Given the description of an element on the screen output the (x, y) to click on. 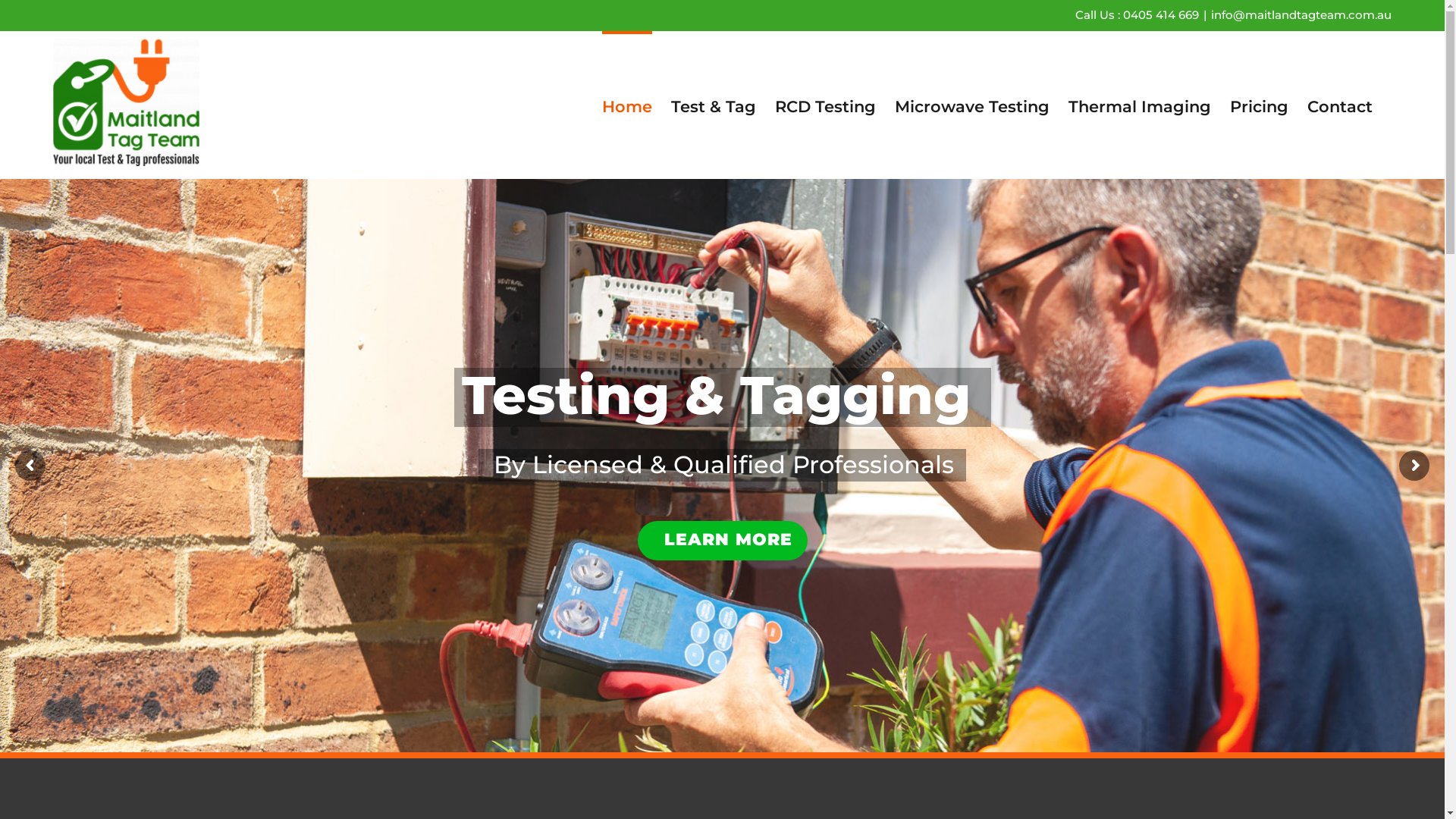
Pricing Element type: text (1259, 104)
Test & Tag Element type: text (713, 104)
LEARN MORE Element type: text (721, 540)
Microwave Testing Element type: text (971, 104)
0405 414 669 Element type: text (1160, 14)
RCD Testing Element type: text (825, 104)
Home Element type: text (627, 104)
info@maitlandtagteam.com.au Element type: text (1301, 14)
Contact Element type: text (1339, 104)
Thermal Imaging Element type: text (1139, 104)
